Given the description of an element on the screen output the (x, y) to click on. 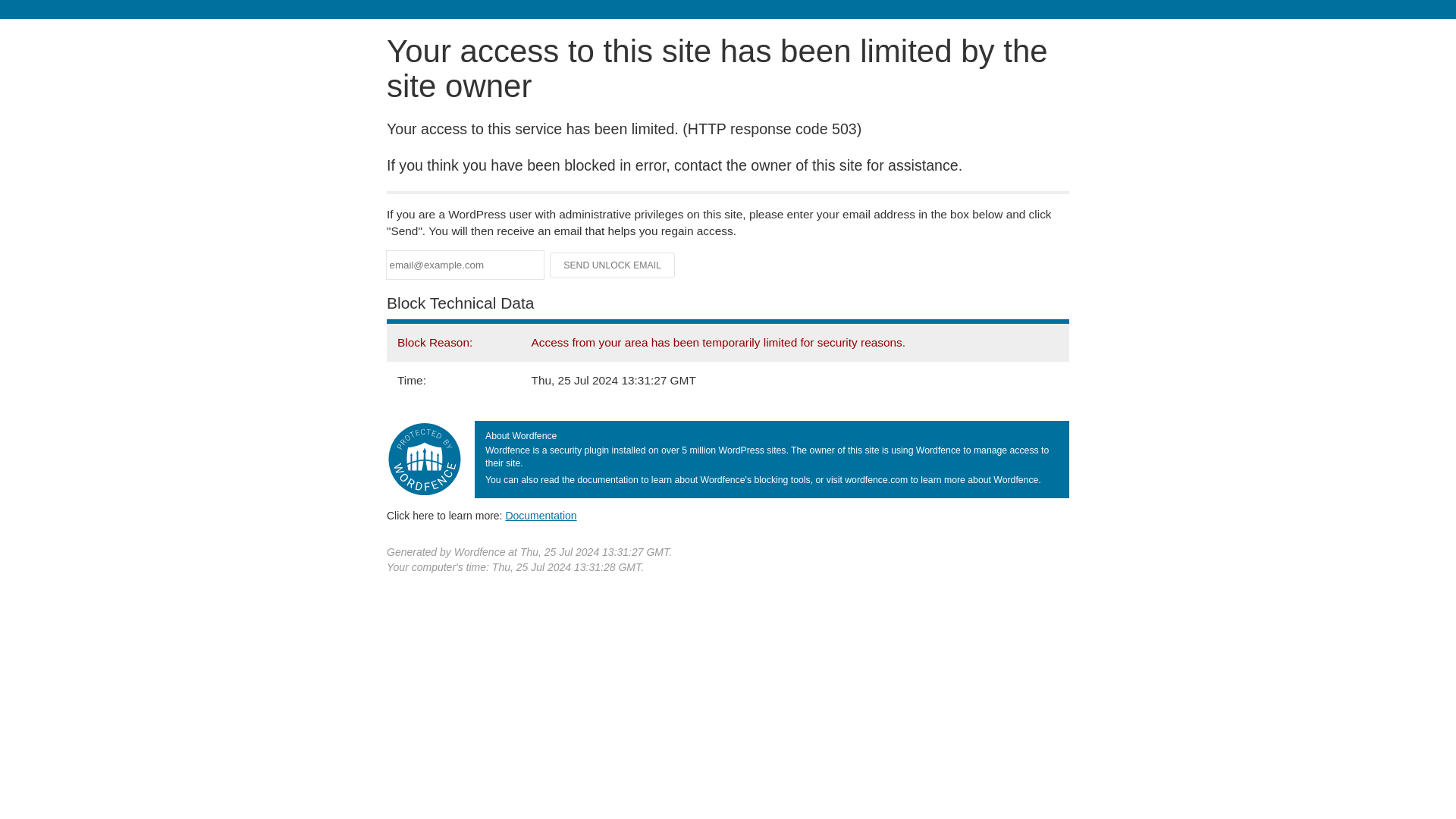
Documentation (540, 515)
Send Unlock Email (612, 265)
Send Unlock Email (612, 265)
